Given the description of an element on the screen output the (x, y) to click on. 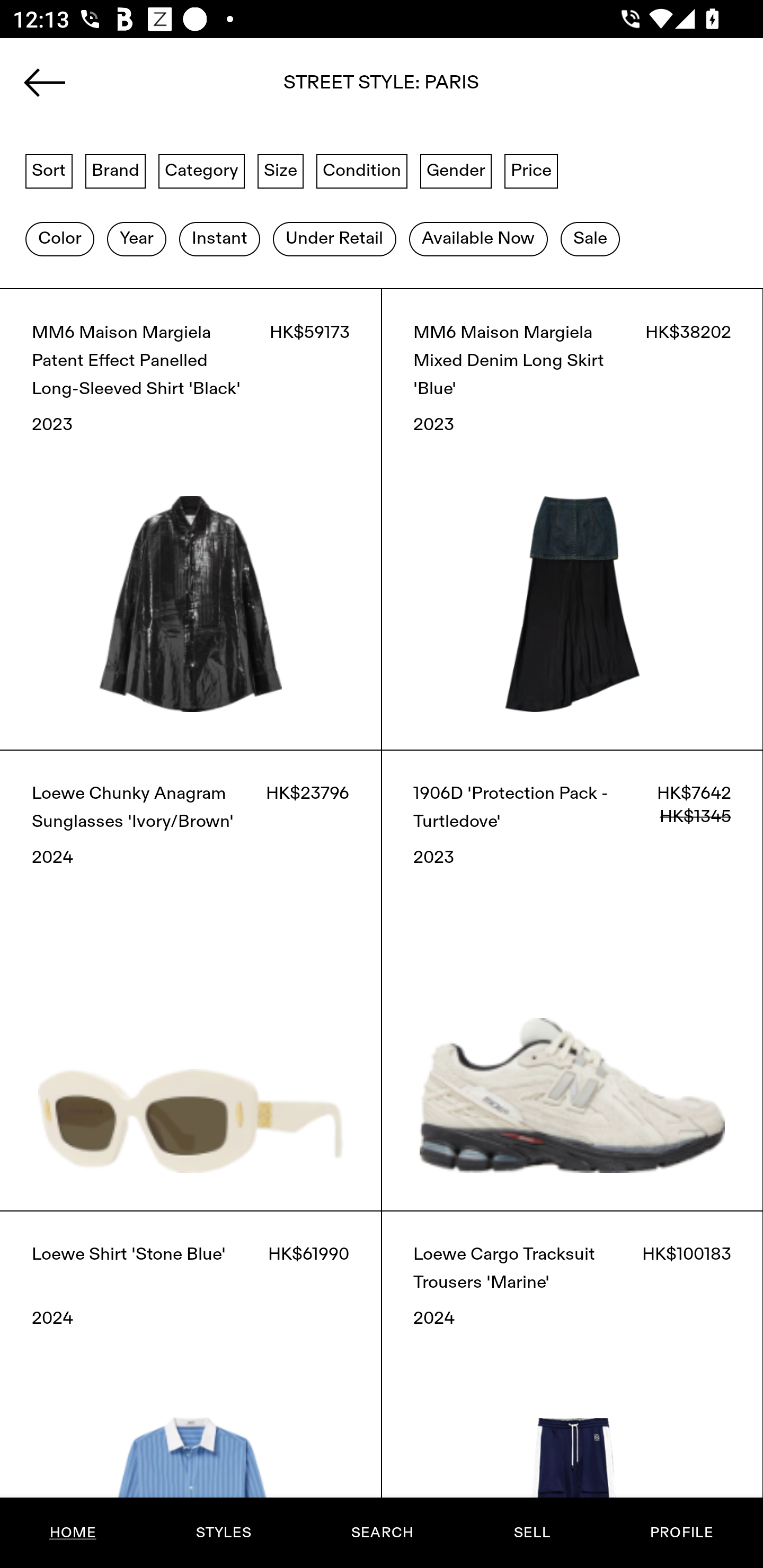
Search (381, 88)
Sort (48, 170)
Brand (115, 170)
Category (201, 170)
Size (280, 170)
Condition (361, 170)
Gender (455, 170)
Price (530, 170)
Color (59, 239)
Year (136, 239)
Instant (219, 239)
Under Retail (334, 239)
Available Now (477, 239)
Sale (589, 239)
Loewe Shirt 'Stone Blue' HK$61990 2024 (190, 1389)
HOME (72, 1532)
STYLES (222, 1532)
SEARCH (381, 1532)
SELL (531, 1532)
PROFILE (681, 1532)
